Given the description of an element on the screen output the (x, y) to click on. 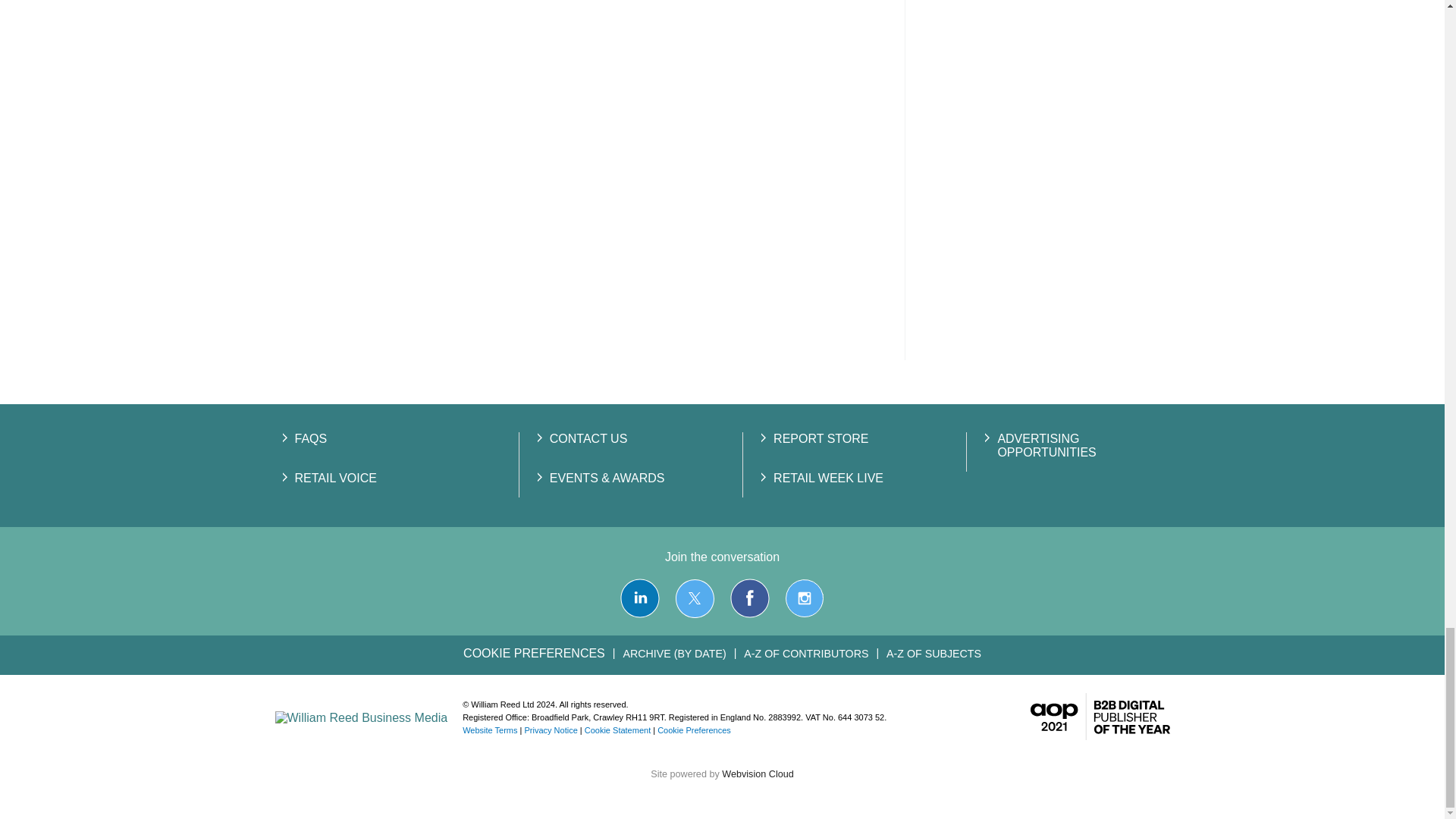
Connect with us on X (694, 598)
Connect with us on Facebook (750, 598)
Connect with us on Instagram (804, 598)
Connect with us on LinkedIn (639, 598)
